Given the description of an element on the screen output the (x, y) to click on. 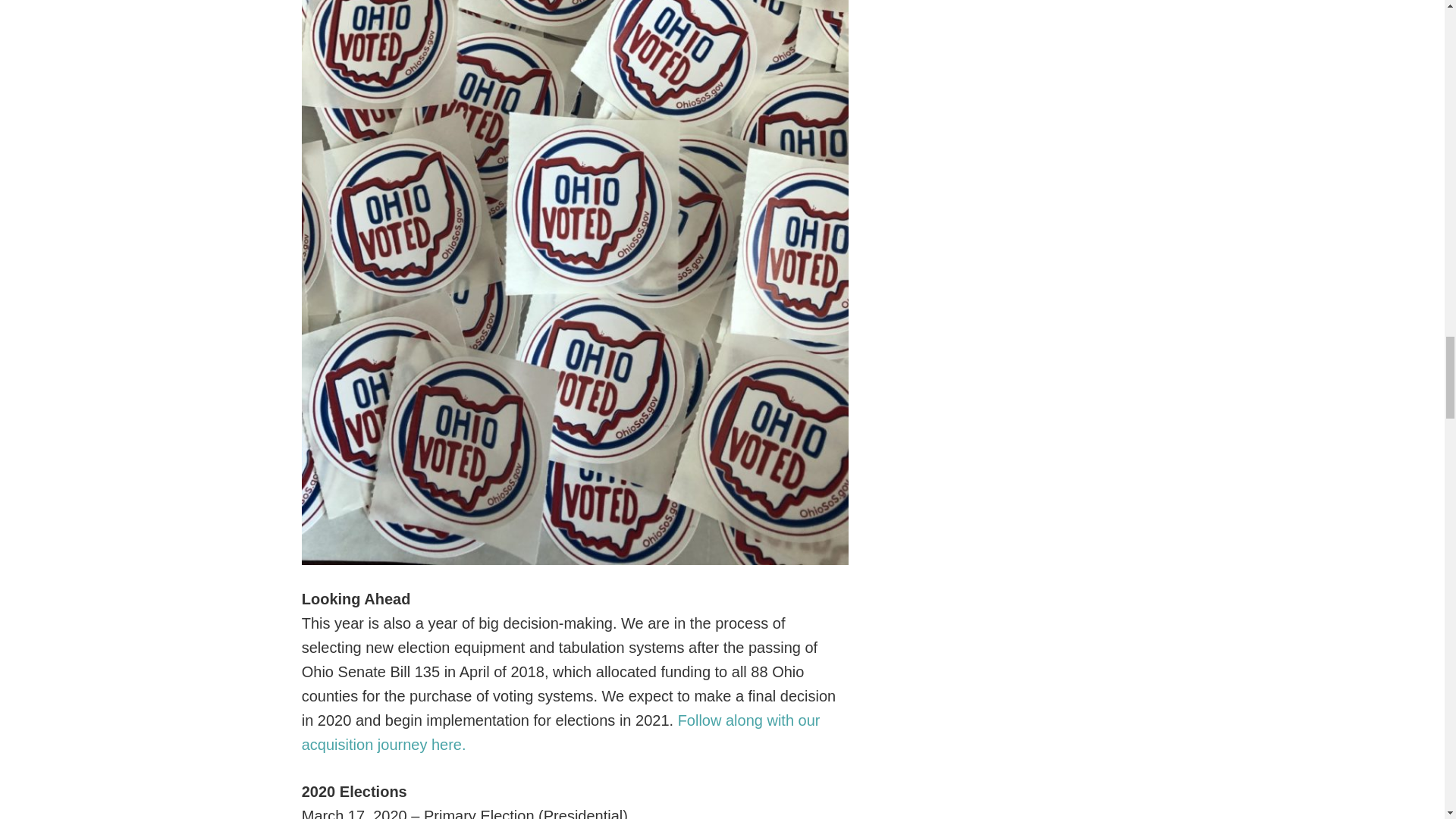
Follow along with our acquisition journey here. (561, 731)
